Given the description of an element on the screen output the (x, y) to click on. 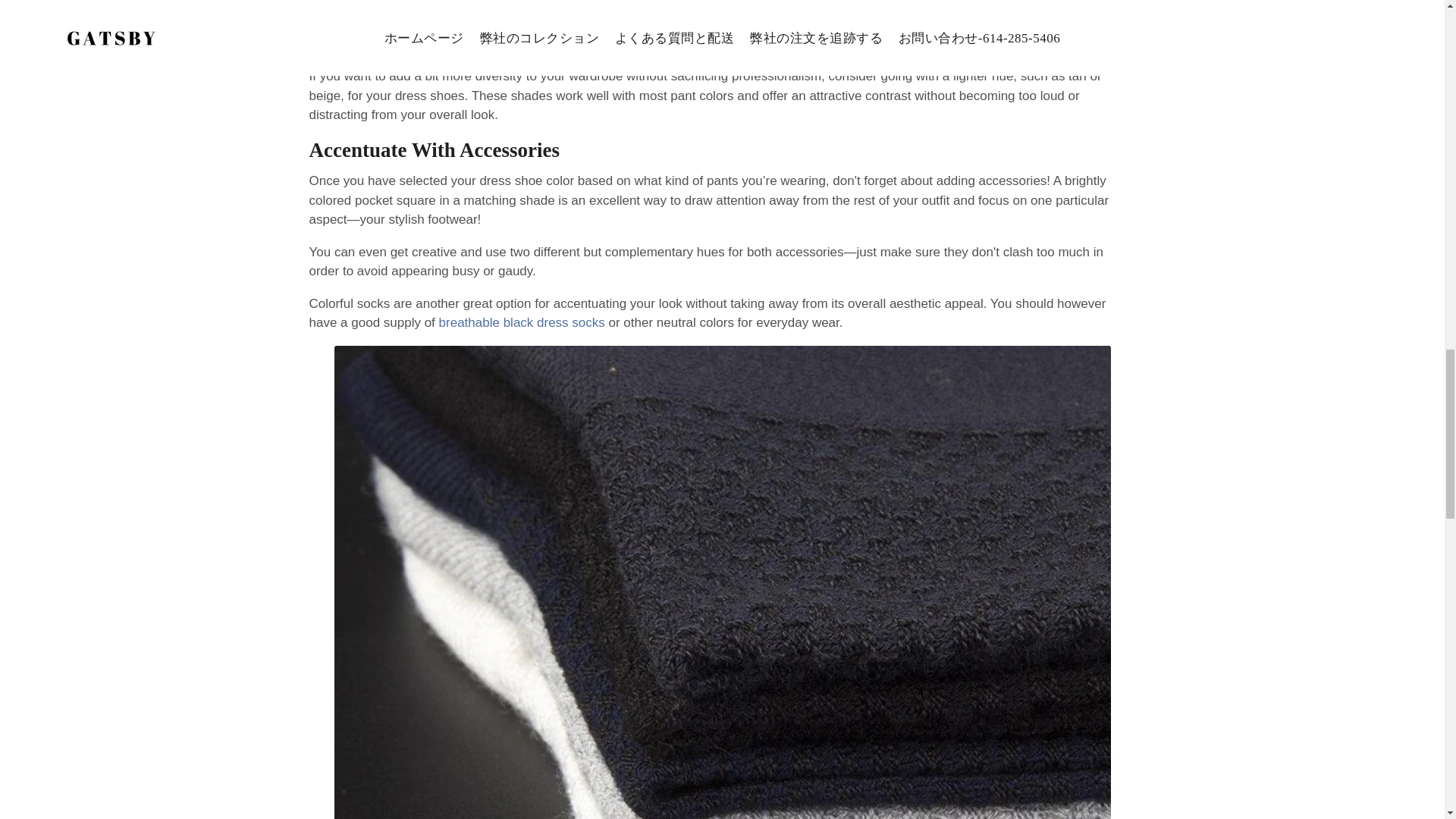
breathable black dress socks (522, 322)
breathable black dress socks (522, 322)
